Given the description of an element on the screen output the (x, y) to click on. 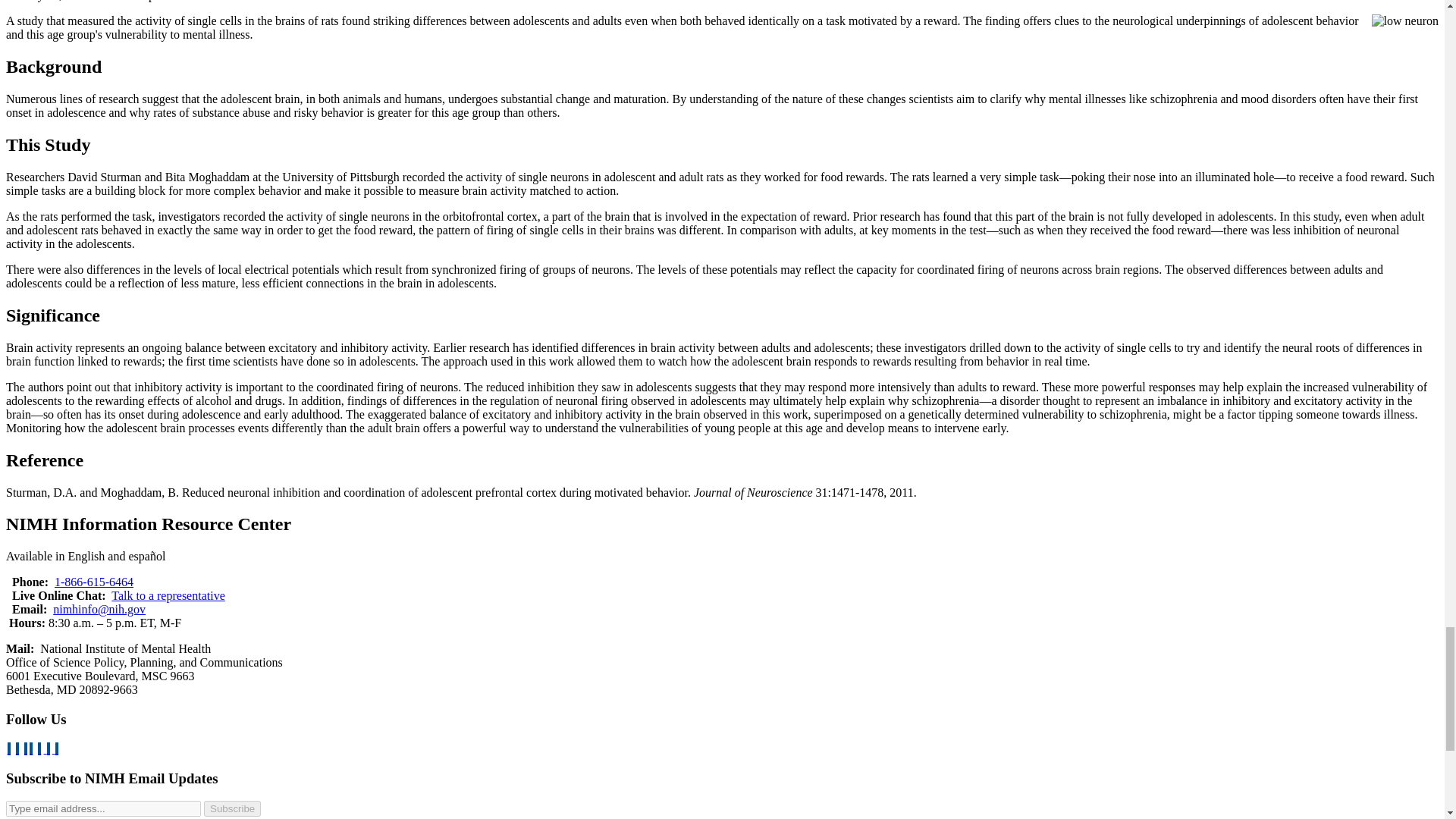
Subscribe (231, 808)
